Given the description of an element on the screen output the (x, y) to click on. 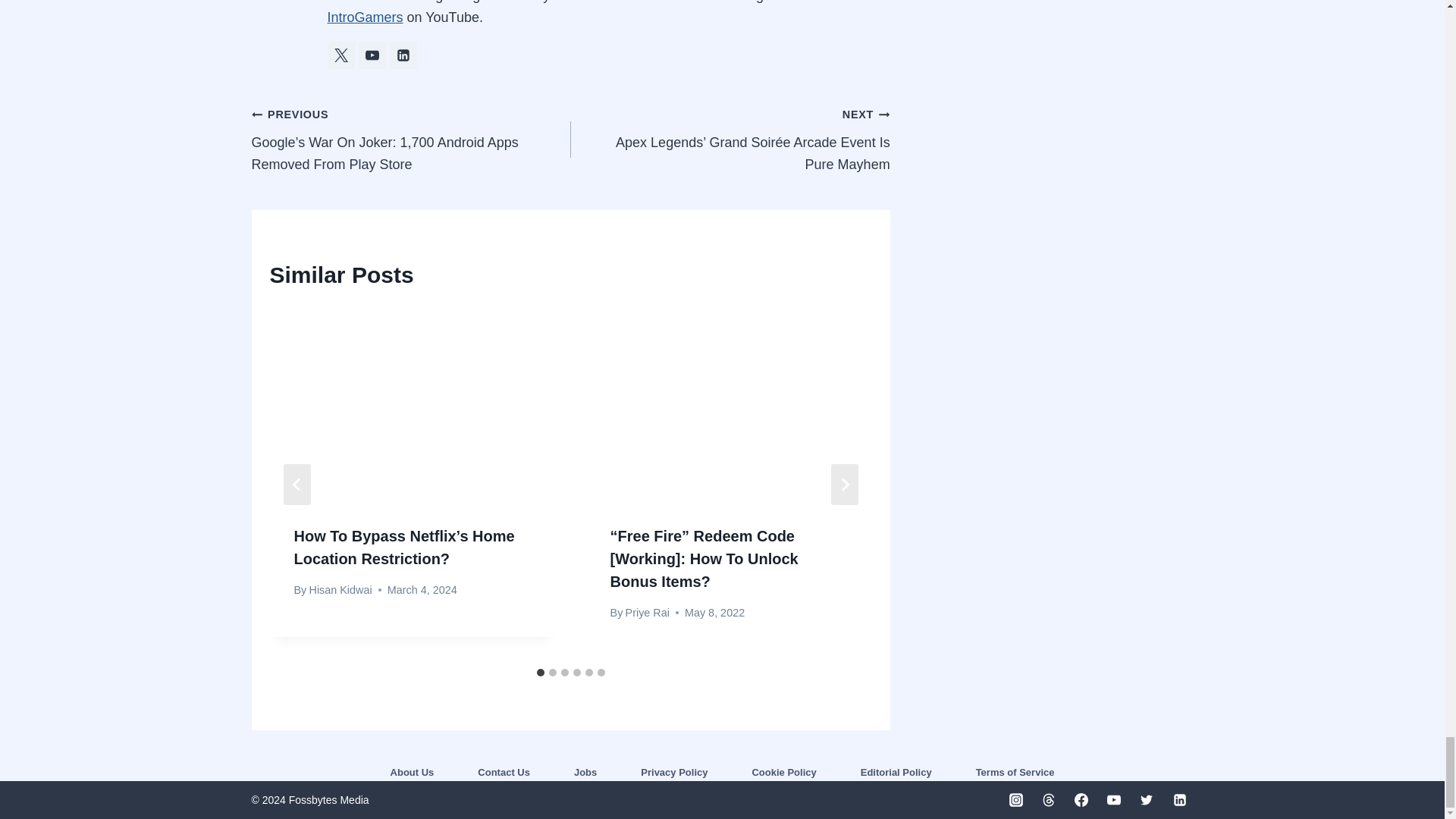
Priye Rai (647, 612)
Hisan Kidwai (339, 589)
Follow Shivam Gulati on X formerly Twitter (341, 54)
Follow Shivam Gulati on Youtube (371, 54)
Follow Shivam Gulati on Linkedin (403, 54)
IntroGamers (365, 17)
